Given the description of an element on the screen output the (x, y) to click on. 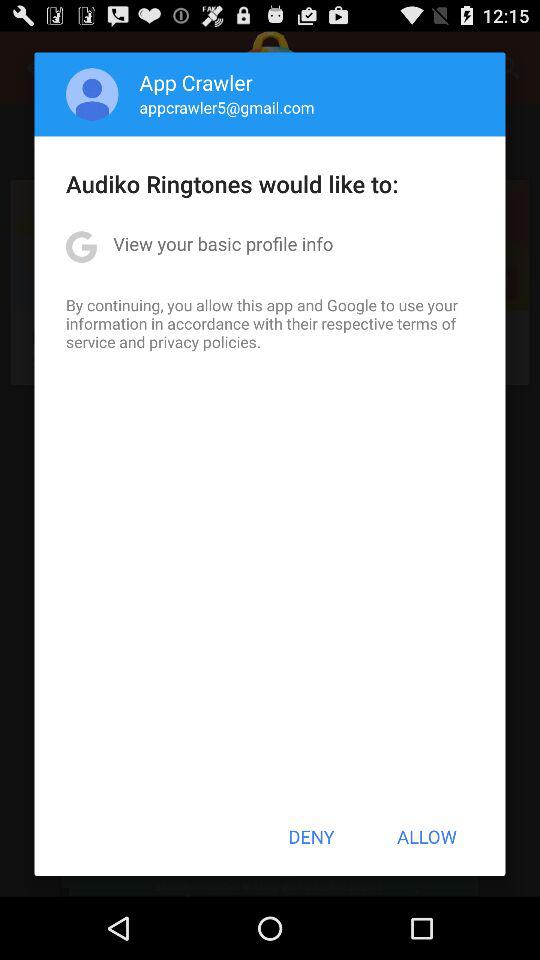
click item next to allow (311, 836)
